Given the description of an element on the screen output the (x, y) to click on. 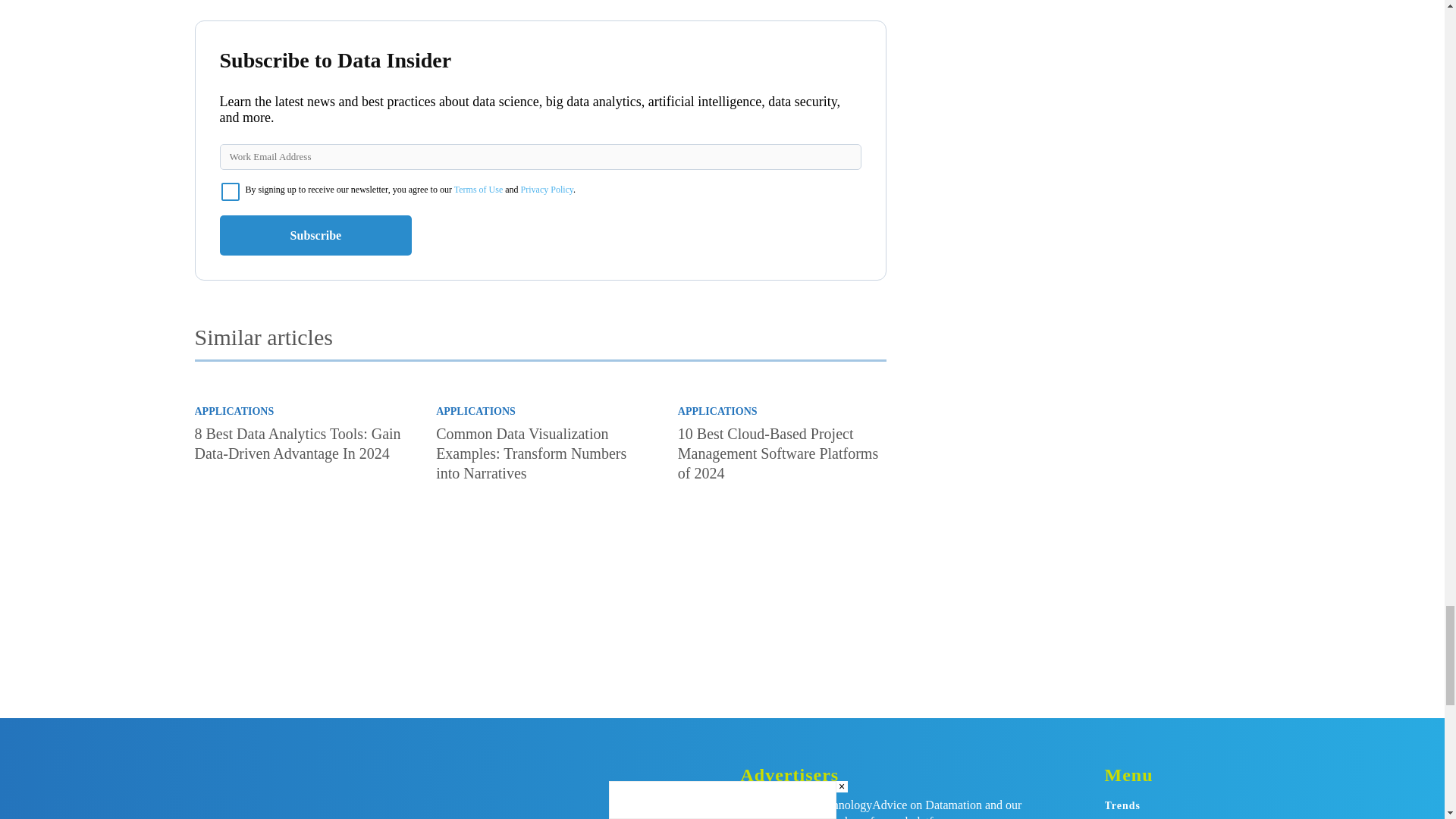
on (230, 191)
